Given the description of an element on the screen output the (x, y) to click on. 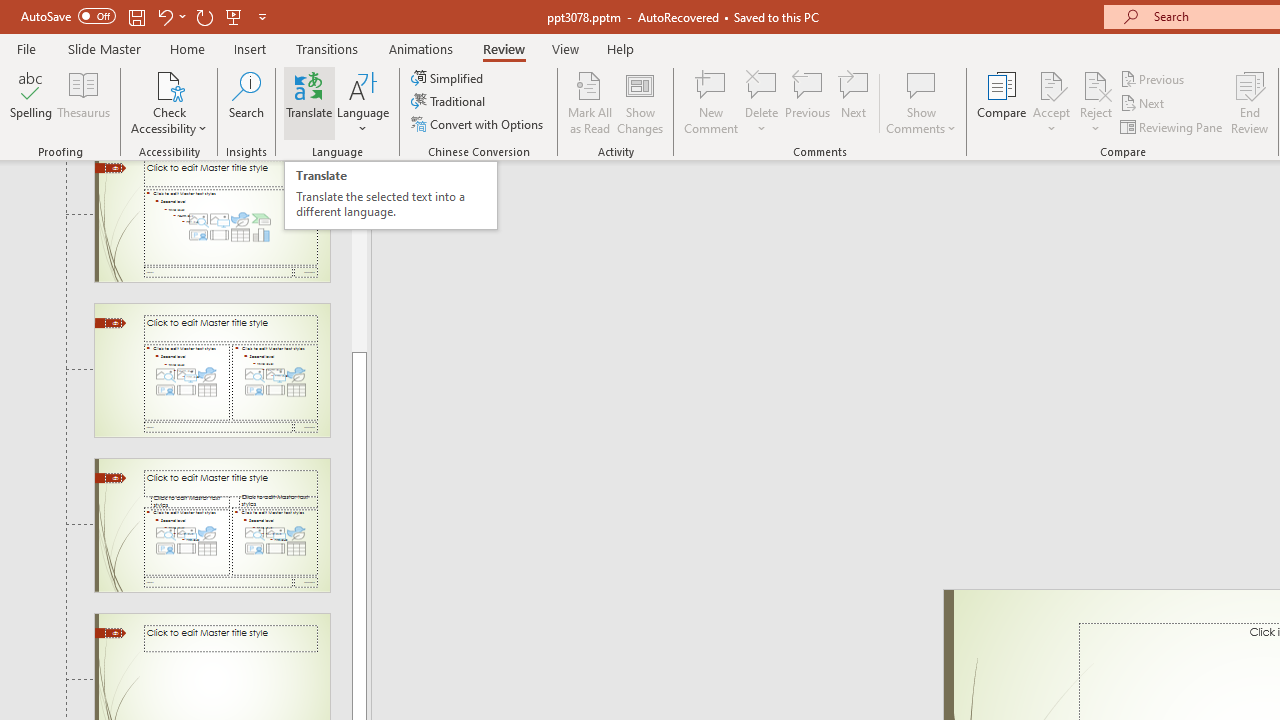
Check Accessibility (169, 84)
Accept (1051, 102)
Convert with Options... (479, 124)
Slide Title and Content Layout: used by no slides (212, 221)
Previous (1153, 78)
Delete (762, 102)
Delete (762, 84)
Reject (1096, 102)
New Comment (711, 102)
